Given the description of an element on the screen output the (x, y) to click on. 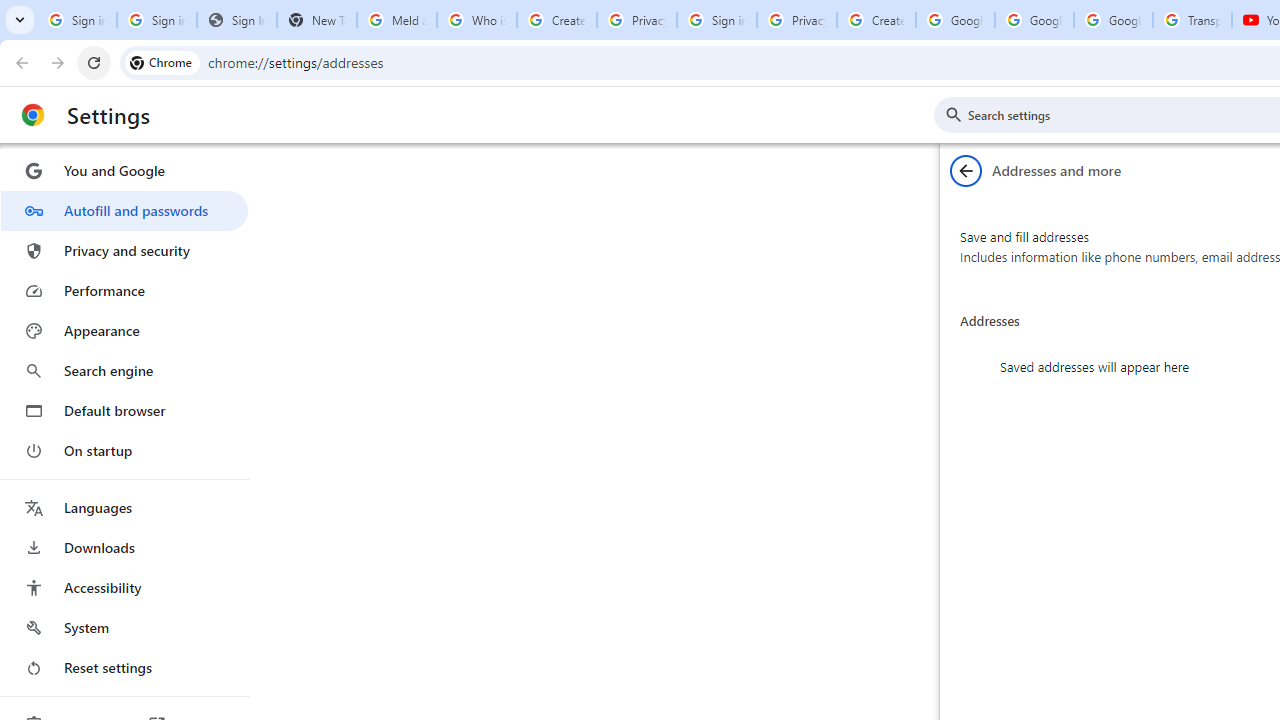
Accessibility (124, 587)
Appearance (124, 331)
Search engine (124, 370)
Create your Google Account (876, 20)
On startup (124, 450)
New Tab (316, 20)
Create your Google Account (556, 20)
Downloads (124, 547)
